Given the description of an element on the screen output the (x, y) to click on. 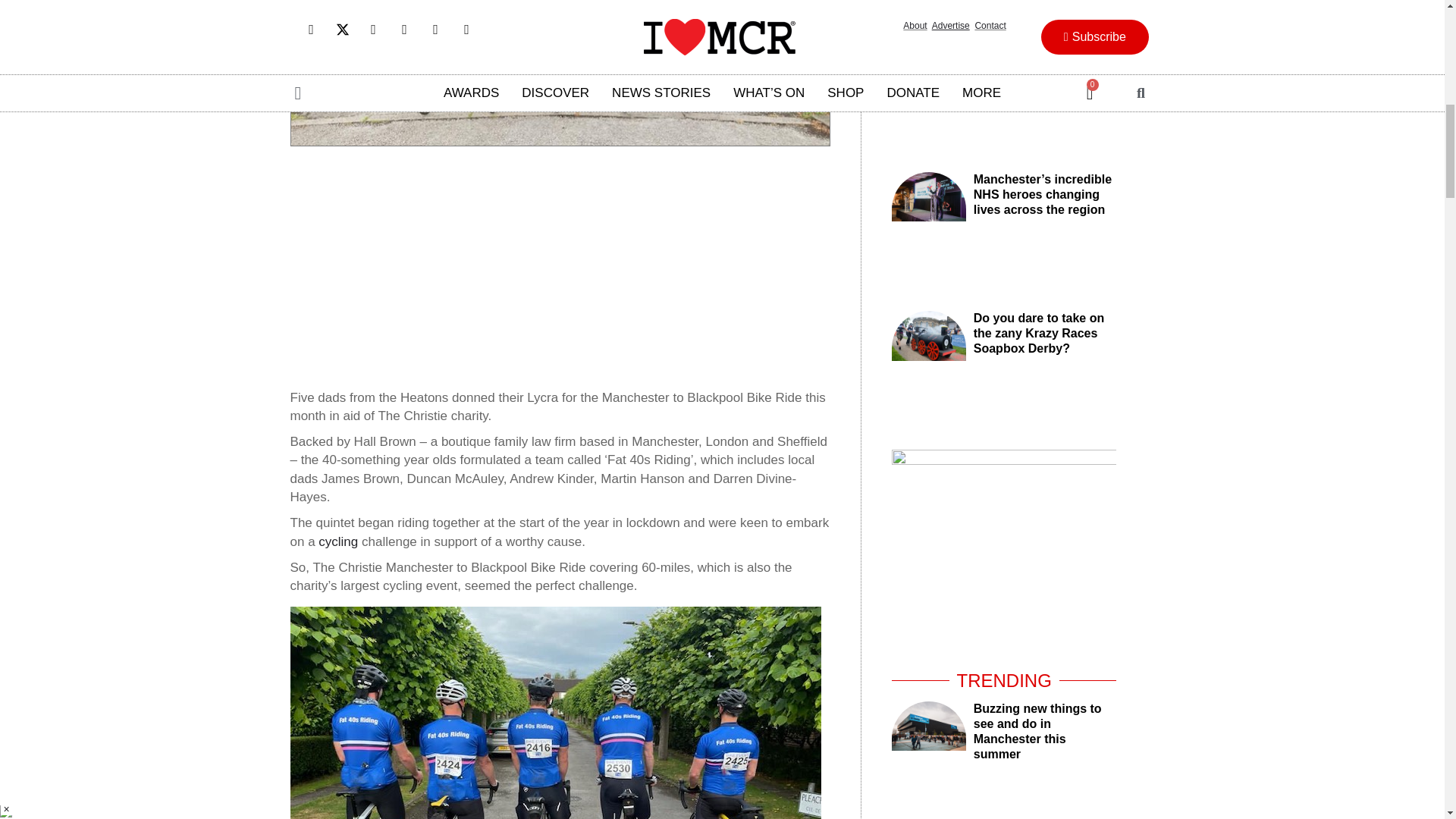
Advertisement (559, 267)
